Given the description of an element on the screen output the (x, y) to click on. 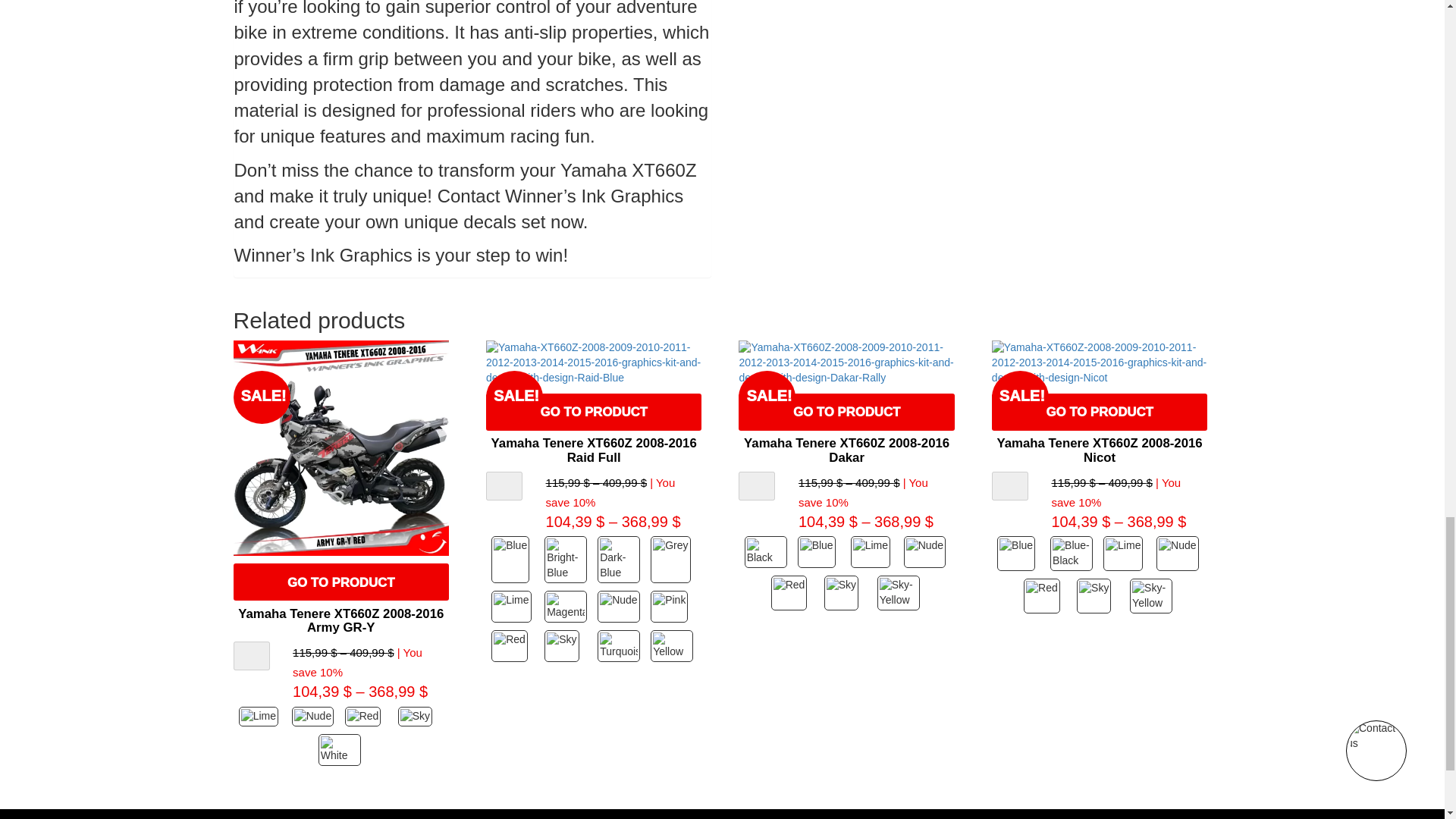
Bright-Blue (566, 559)
Nude (314, 716)
White (341, 749)
Lime (514, 606)
Lime (260, 716)
Blue (514, 559)
SALE! (340, 447)
Dark-Blue (619, 559)
Red (367, 716)
GO TO PRODUCT (340, 581)
